Given the description of an element on the screen output the (x, y) to click on. 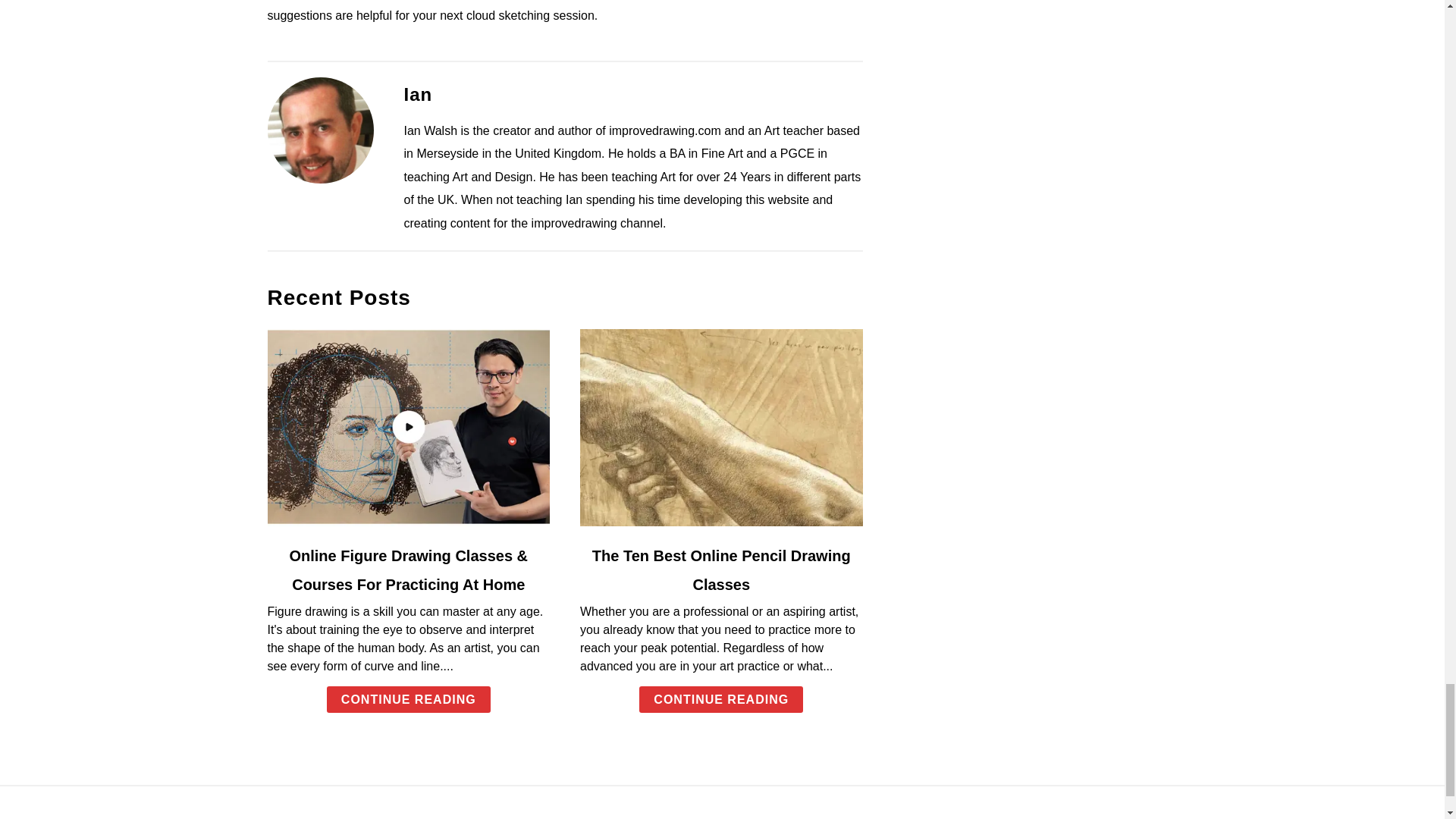
CONTINUE READING (408, 699)
link to The Ten Best Online Pencil Drawing Classes (721, 427)
The Ten Best Online Pencil Drawing Classes (721, 569)
Ian (417, 94)
